Given the description of an element on the screen output the (x, y) to click on. 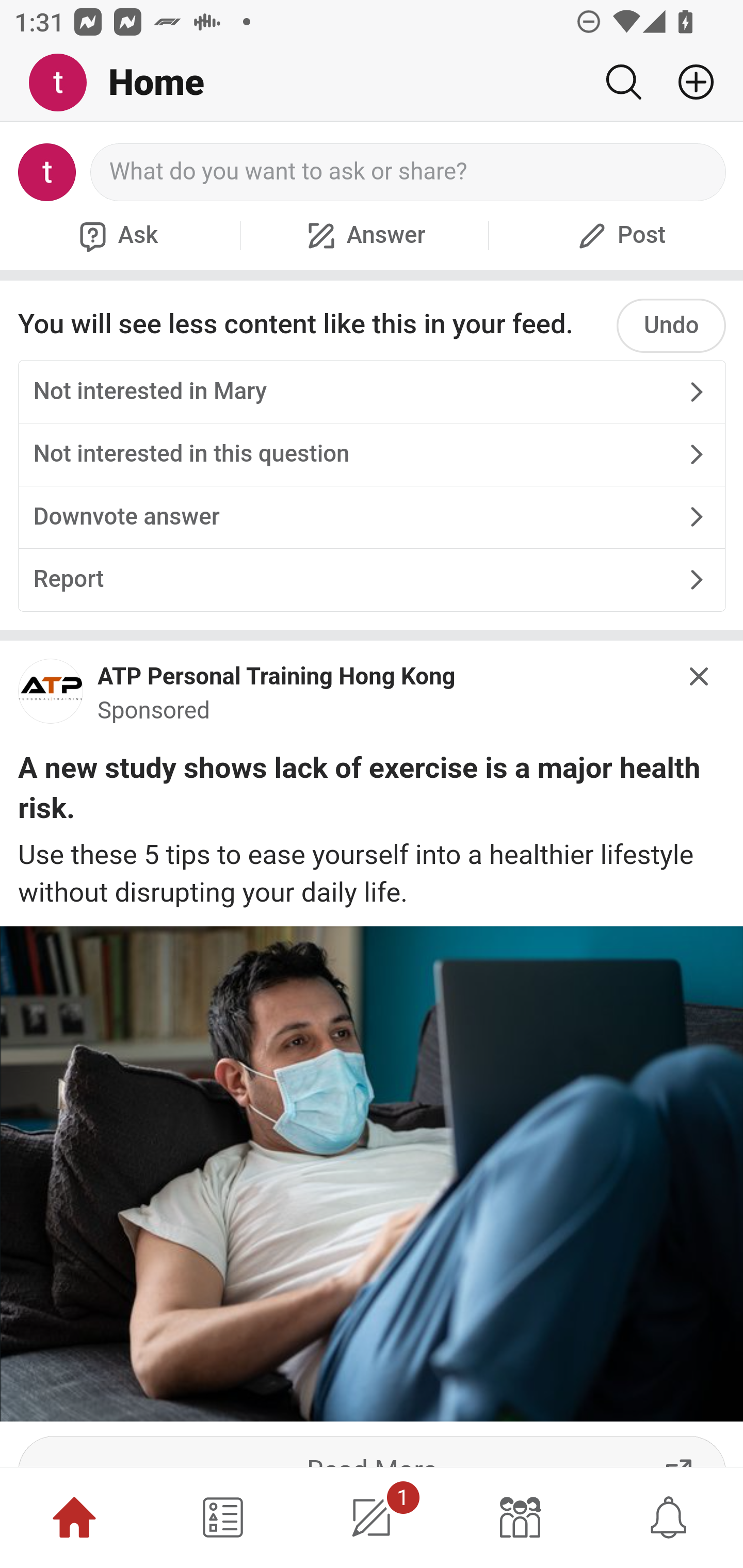
Me Home Search Add (371, 82)
Me (64, 83)
Search (623, 82)
Add (688, 82)
What do you want to ask or share? (408, 172)
Ask (116, 234)
Answer (364, 234)
Post (618, 234)
Undo (671, 324)
Not interested in Mary (371, 391)
Not interested in this question (371, 454)
Downvote answer (371, 516)
Report (371, 578)
Hide (699, 676)
main-qimg-1f396d5a5e054ddd9a425d683de3a2f9 (50, 694)
ATP Personal Training Hong Kong (276, 676)
Sponsored (154, 710)
1 (371, 1517)
